Given the description of an element on the screen output the (x, y) to click on. 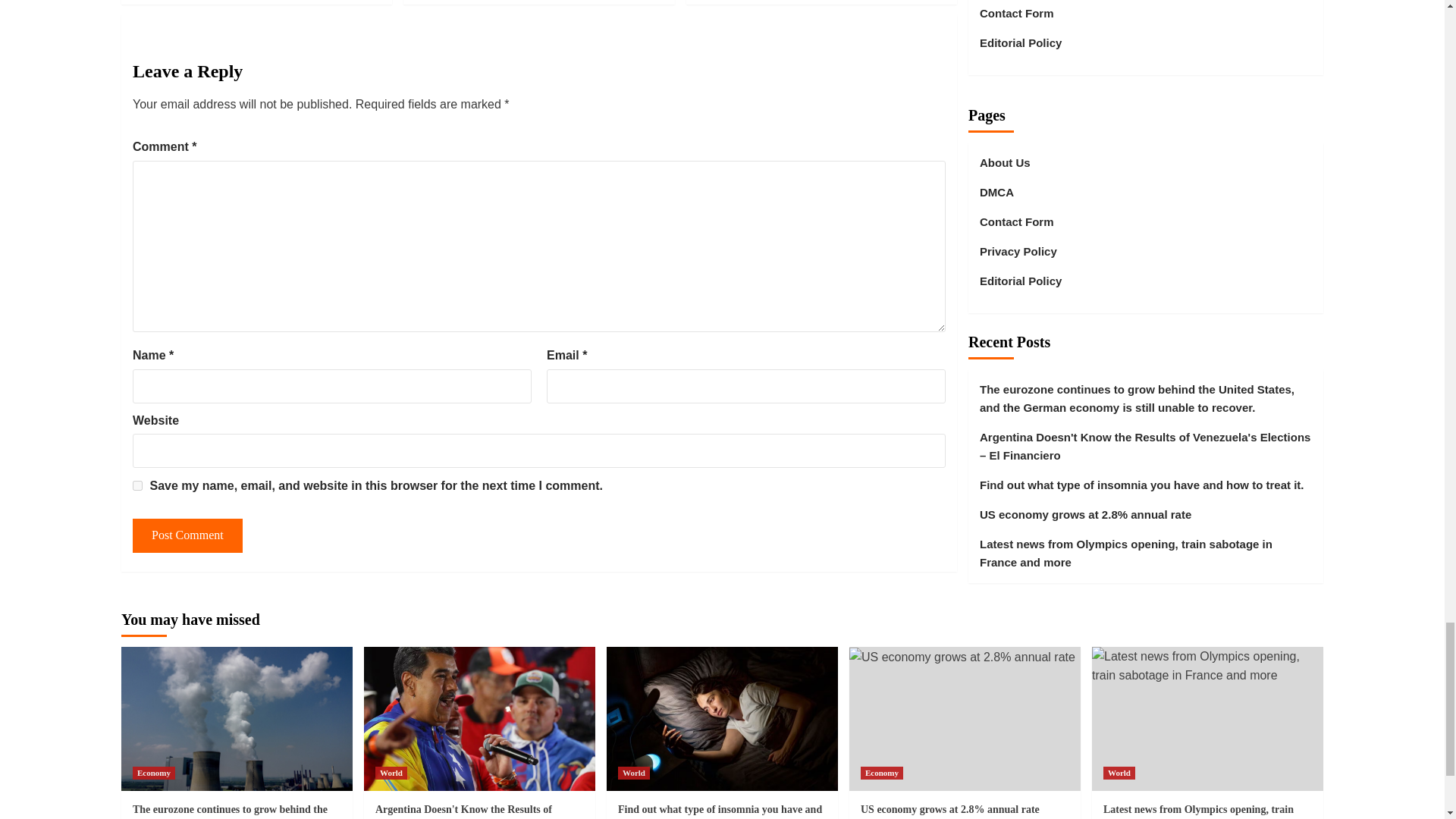
Post Comment (187, 535)
yes (137, 485)
Find out what type of insomnia you have and how to treat it. (722, 719)
